Given the description of an element on the screen output the (x, y) to click on. 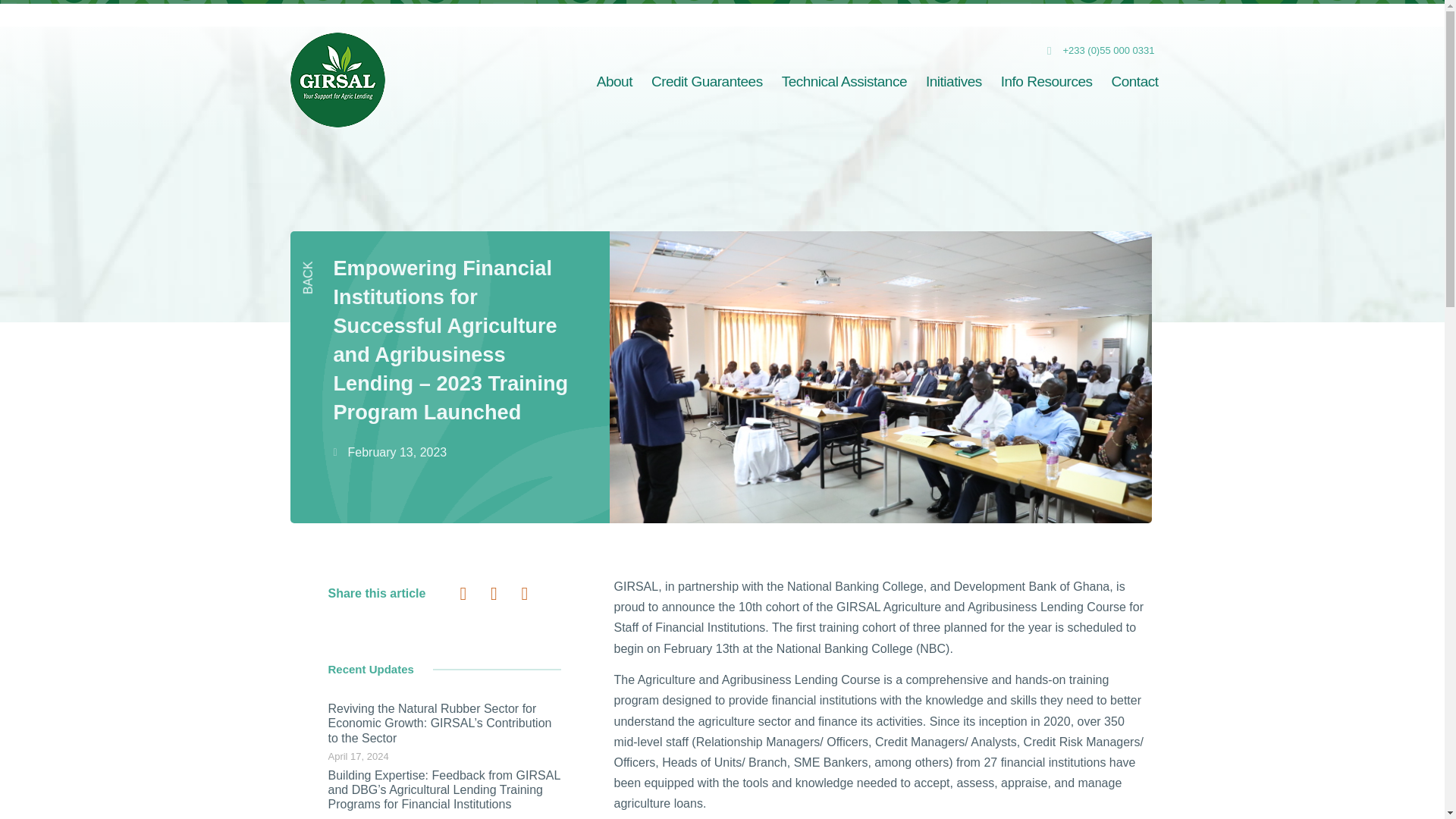
About (614, 80)
BACK (317, 267)
Info Resources (1046, 80)
Initiatives (954, 80)
Technical Assistance (844, 80)
Contact (1134, 80)
Credit Guarantees (706, 80)
